Given the description of an element on the screen output the (x, y) to click on. 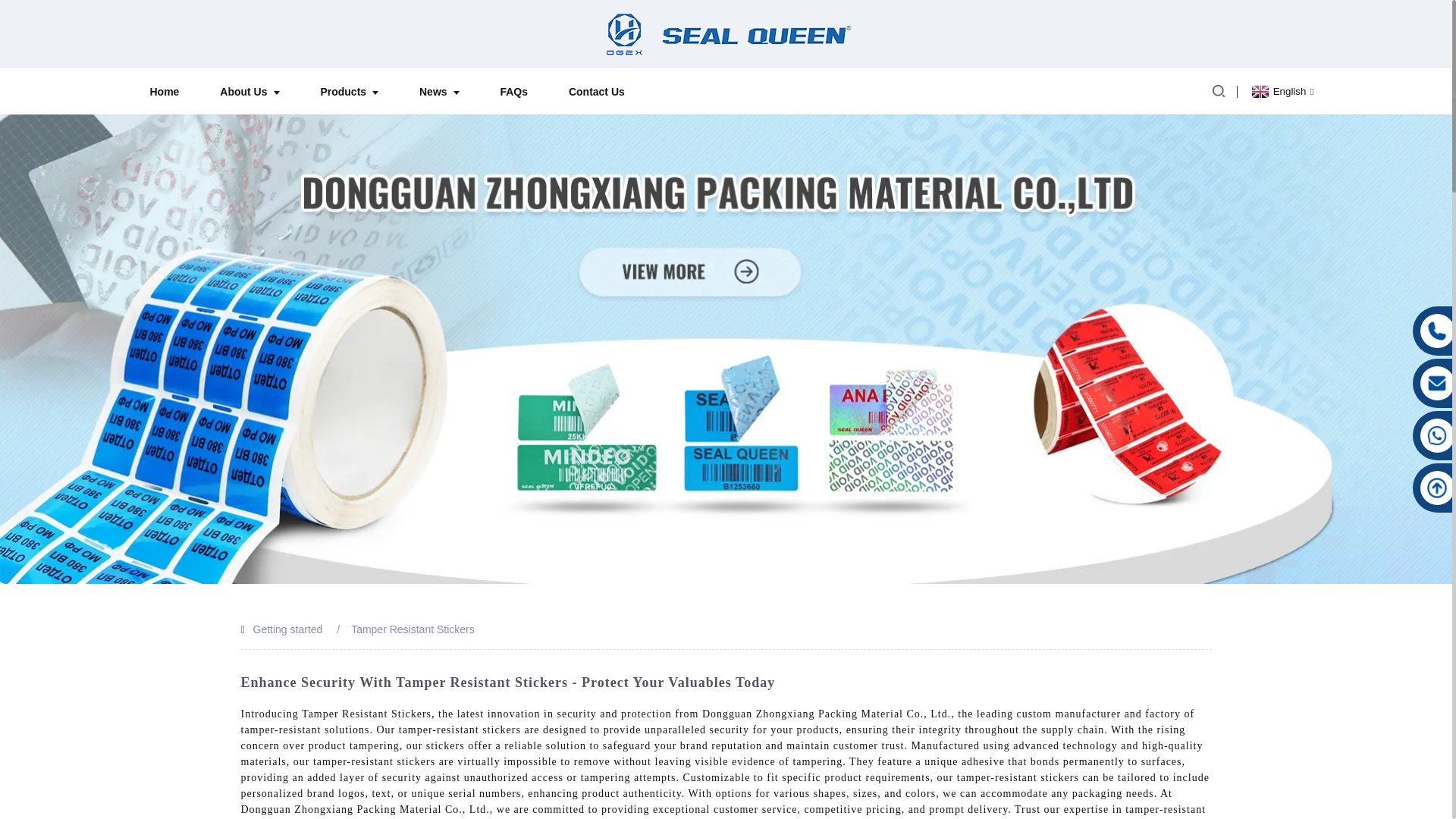
Products (349, 91)
News (438, 91)
Home (164, 91)
Contact Us (596, 91)
Tamper Resistant Stickers (412, 629)
Getting started (288, 629)
English (1280, 91)
About Us (248, 91)
FAQs (512, 91)
